Given the description of an element on the screen output the (x, y) to click on. 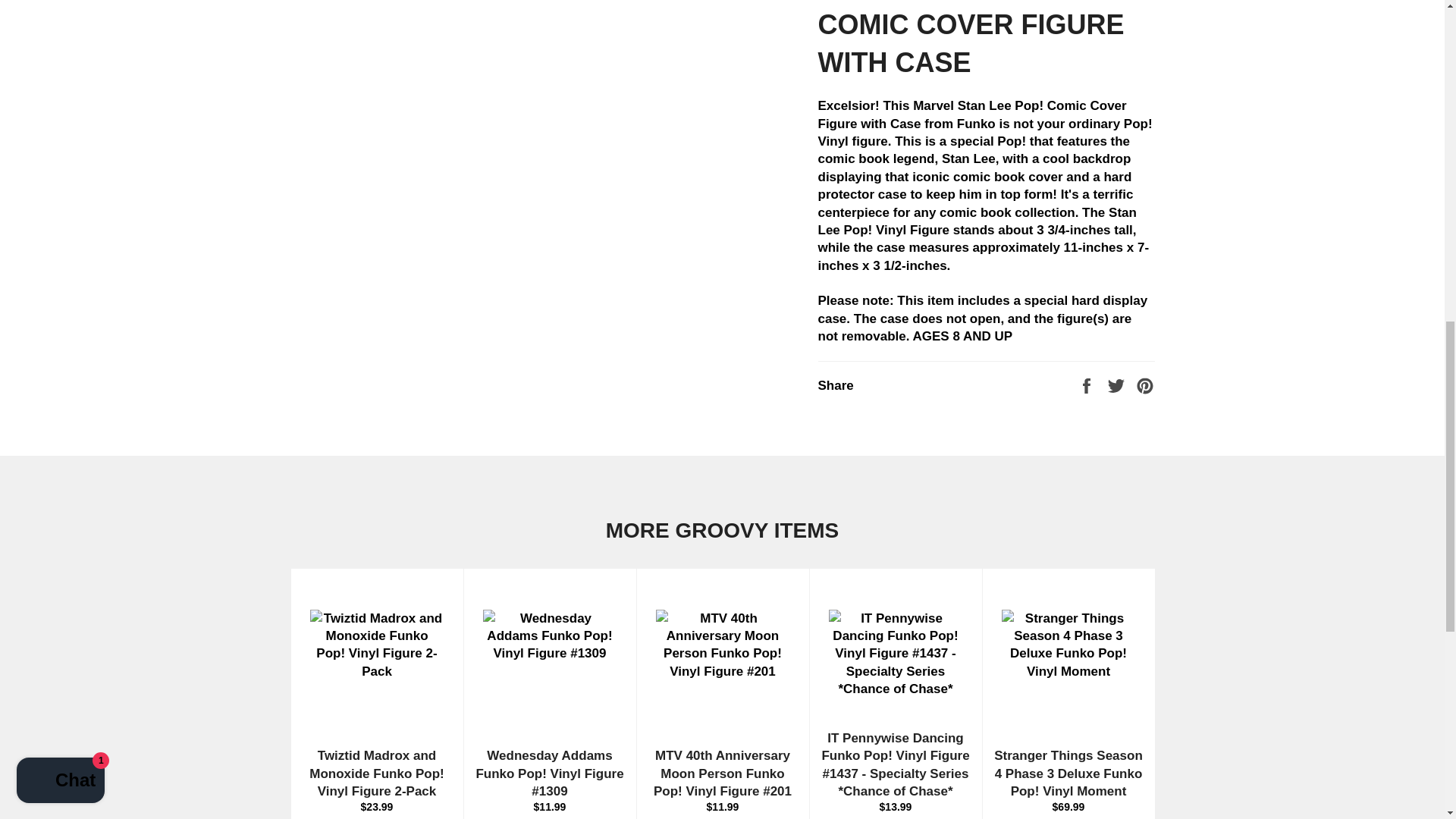
Pin on Pinterest (1144, 385)
Tweet on Twitter (1117, 385)
Share on Facebook (1088, 385)
